Given the description of an element on the screen output the (x, y) to click on. 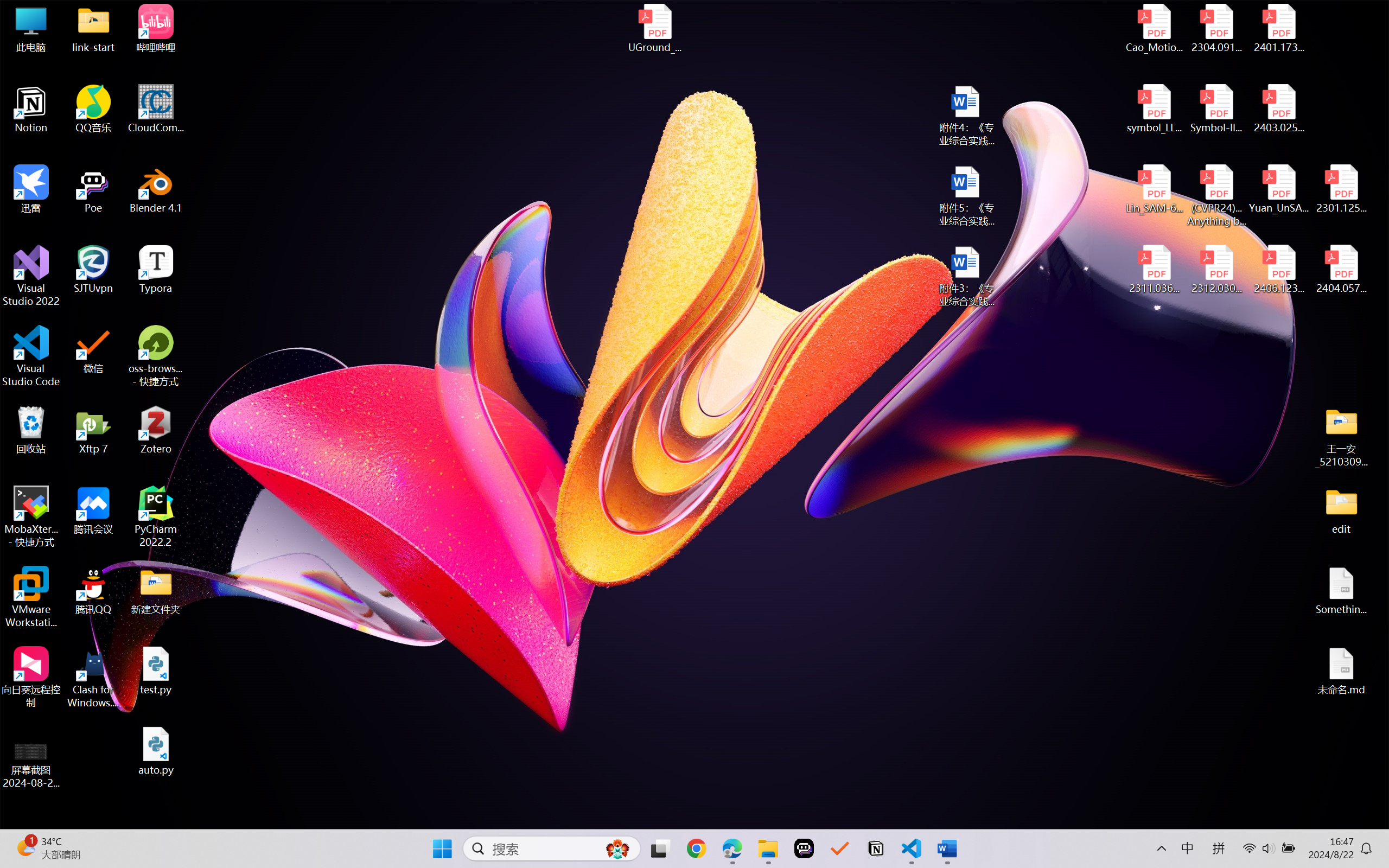
Microsoft search (715, 19)
Ruler (358, 97)
3.10.4 ('py310': conda), D:\anaconda\envs\py310\python.exe (989, 816)
broadcast Go Live, Click to run live server (1102, 816)
Format Background (420, 97)
